Given the description of an element on the screen output the (x, y) to click on. 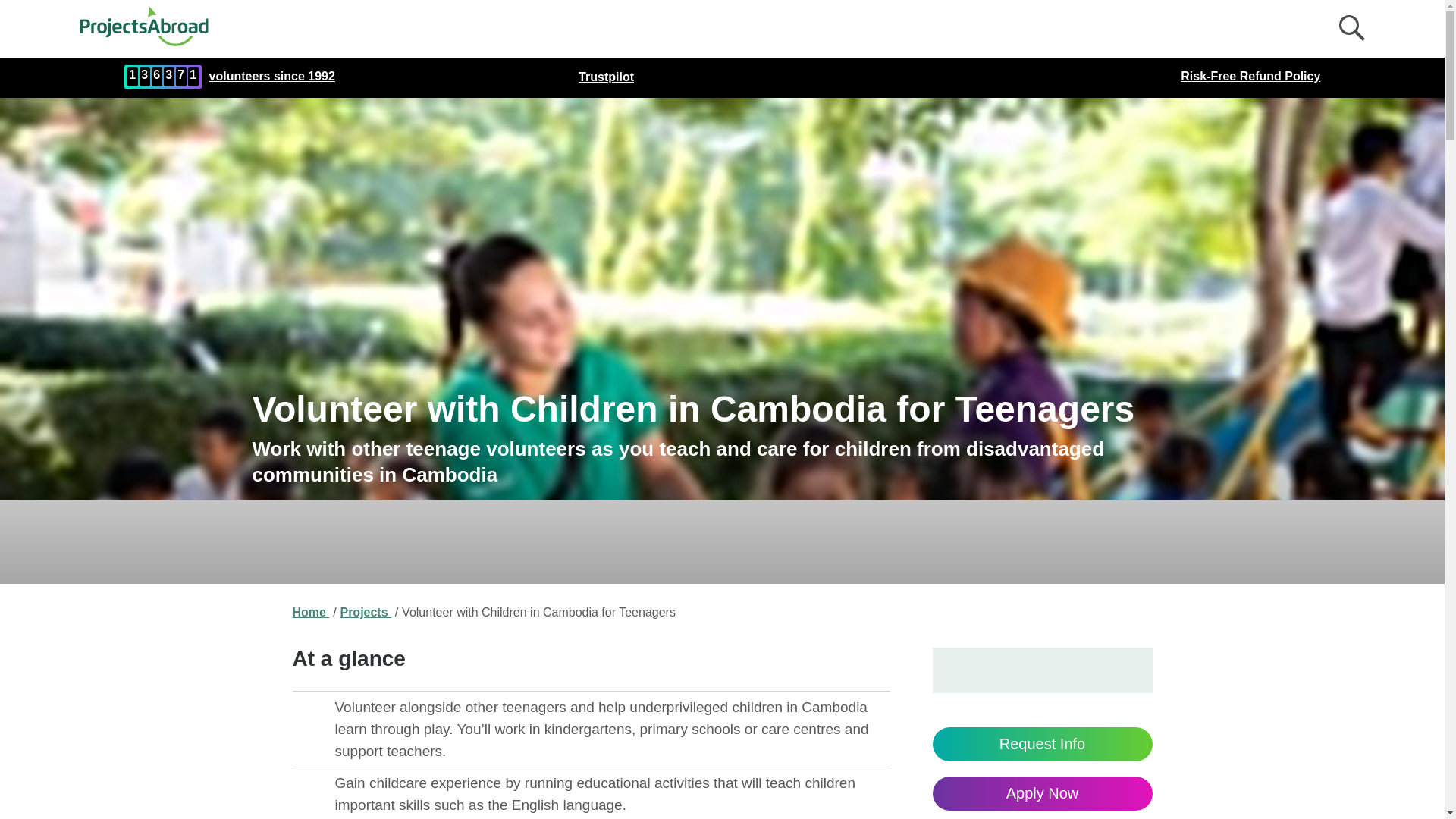
Trustpilot (605, 76)
Volunteer with Children in Cambodia for Teenagers (538, 612)
Apply Now (1043, 793)
volunteers since 1992 (271, 76)
Search (1356, 31)
Projects (365, 612)
Risk-Free Refund Policy (1250, 76)
Home (311, 612)
Request Info (1043, 744)
